Given the description of an element on the screen output the (x, y) to click on. 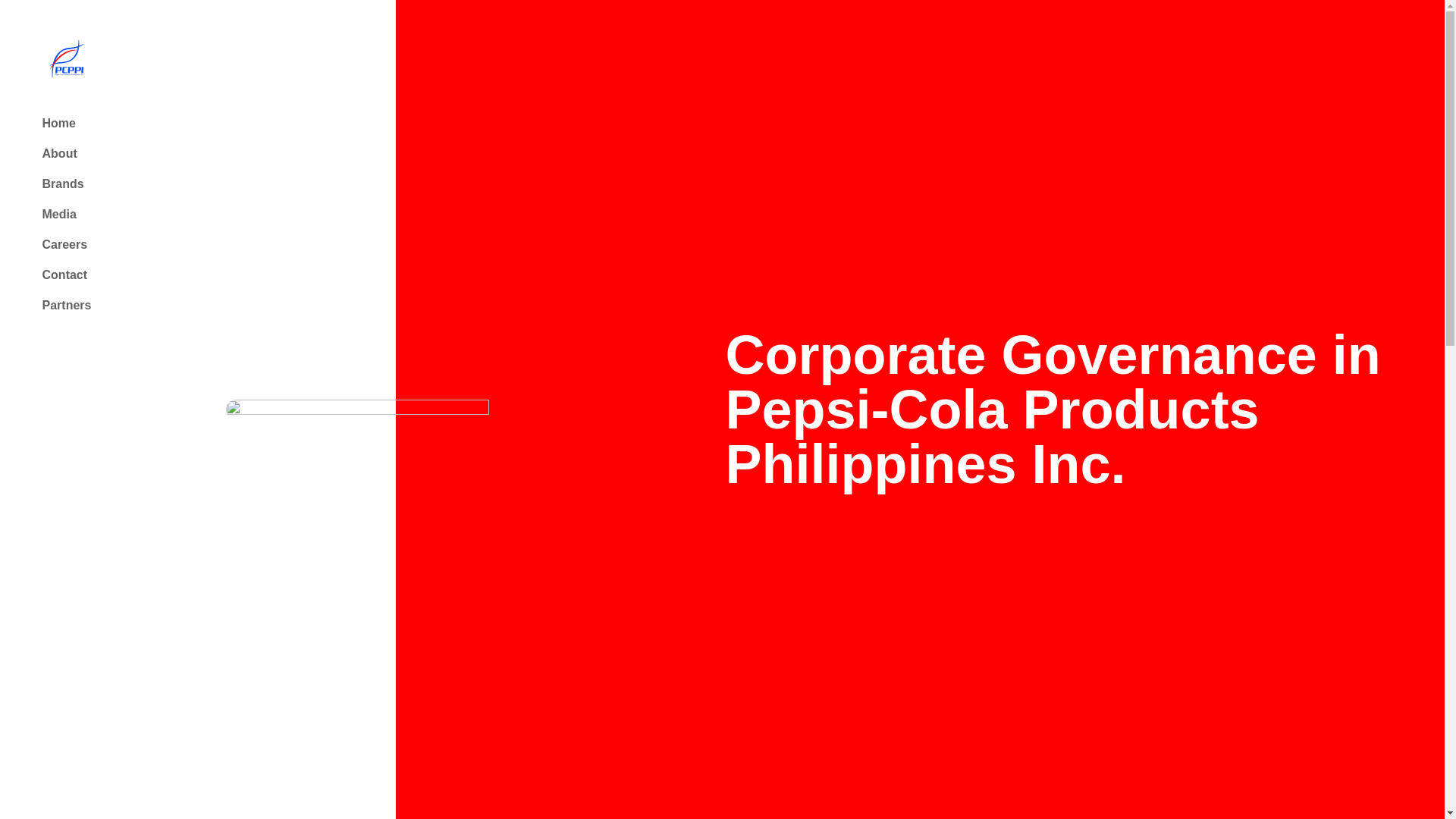
Careers (64, 244)
Home (58, 123)
About (59, 153)
Media (59, 214)
Partners (66, 305)
Contact (64, 274)
Brands (63, 183)
